Given the description of an element on the screen output the (x, y) to click on. 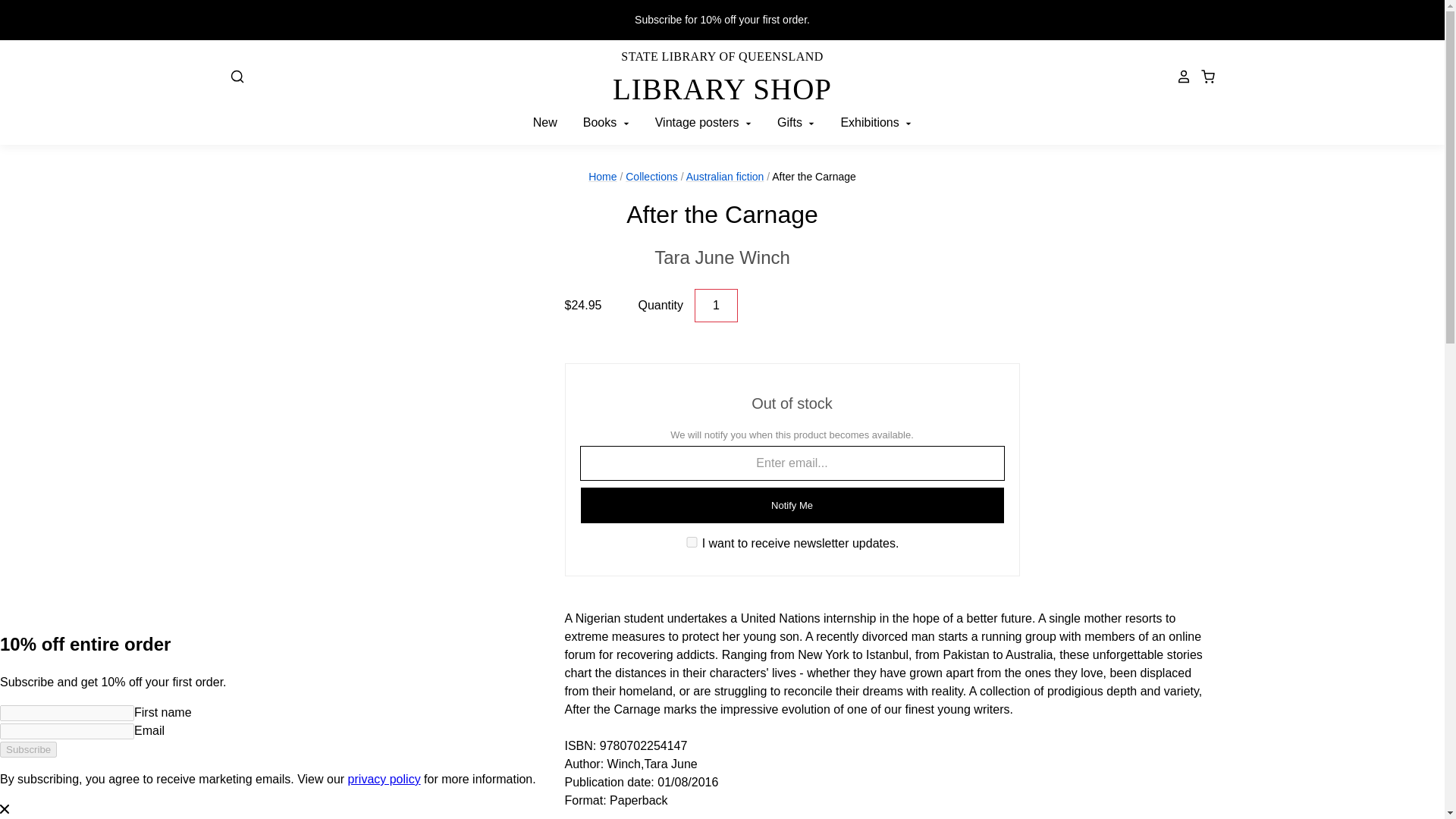
1 (715, 305)
on (721, 257)
